Given the description of an element on the screen output the (x, y) to click on. 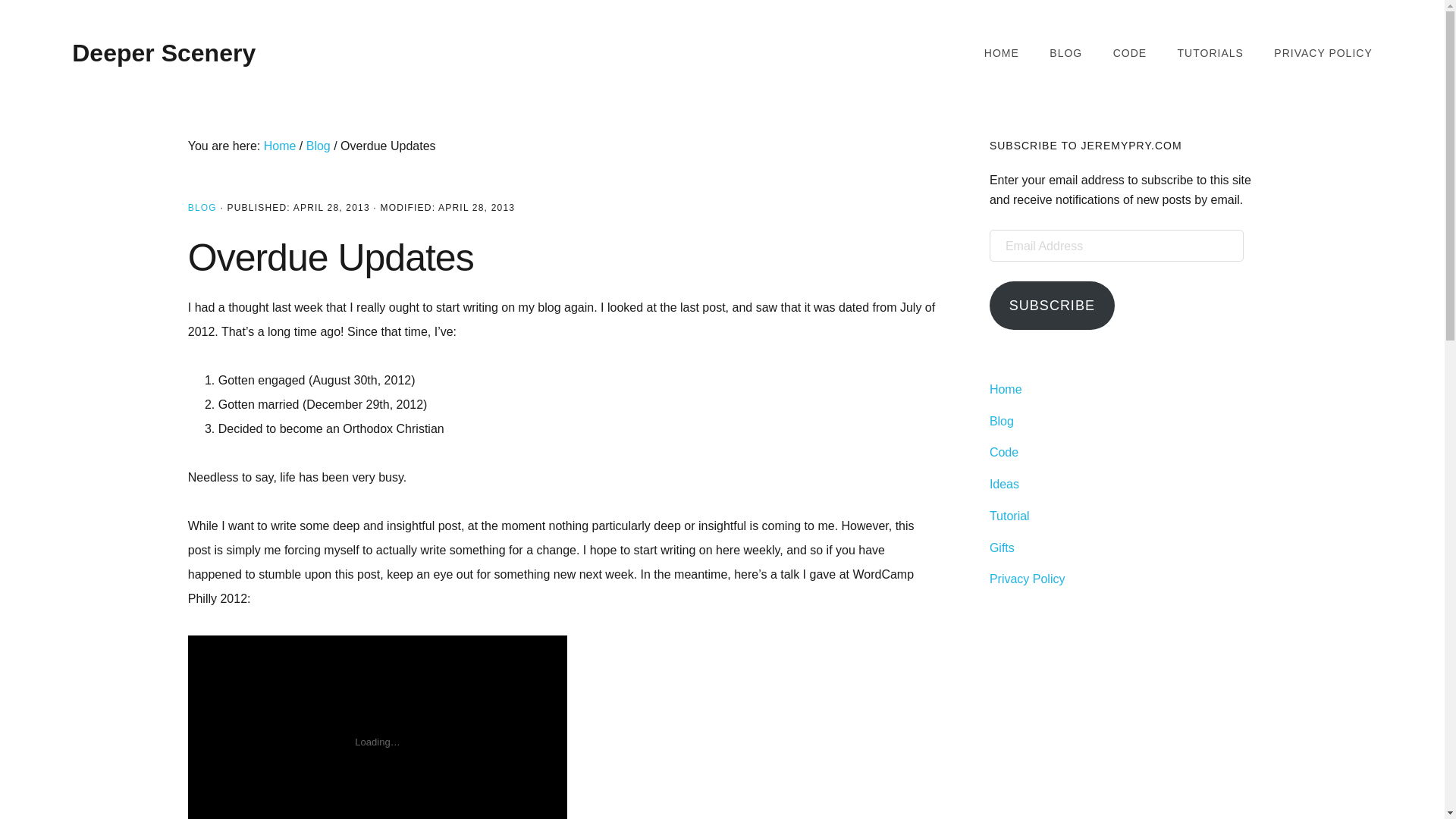
Home (280, 145)
Ideas (1004, 483)
SUBSCRIBE (1052, 305)
Code (1003, 451)
Home (1006, 389)
Privacy Policy (1027, 578)
Blog (1001, 420)
BLOG (201, 207)
TUTORIALS (1210, 53)
VideoPress Video Player (377, 727)
